Given the description of an element on the screen output the (x, y) to click on. 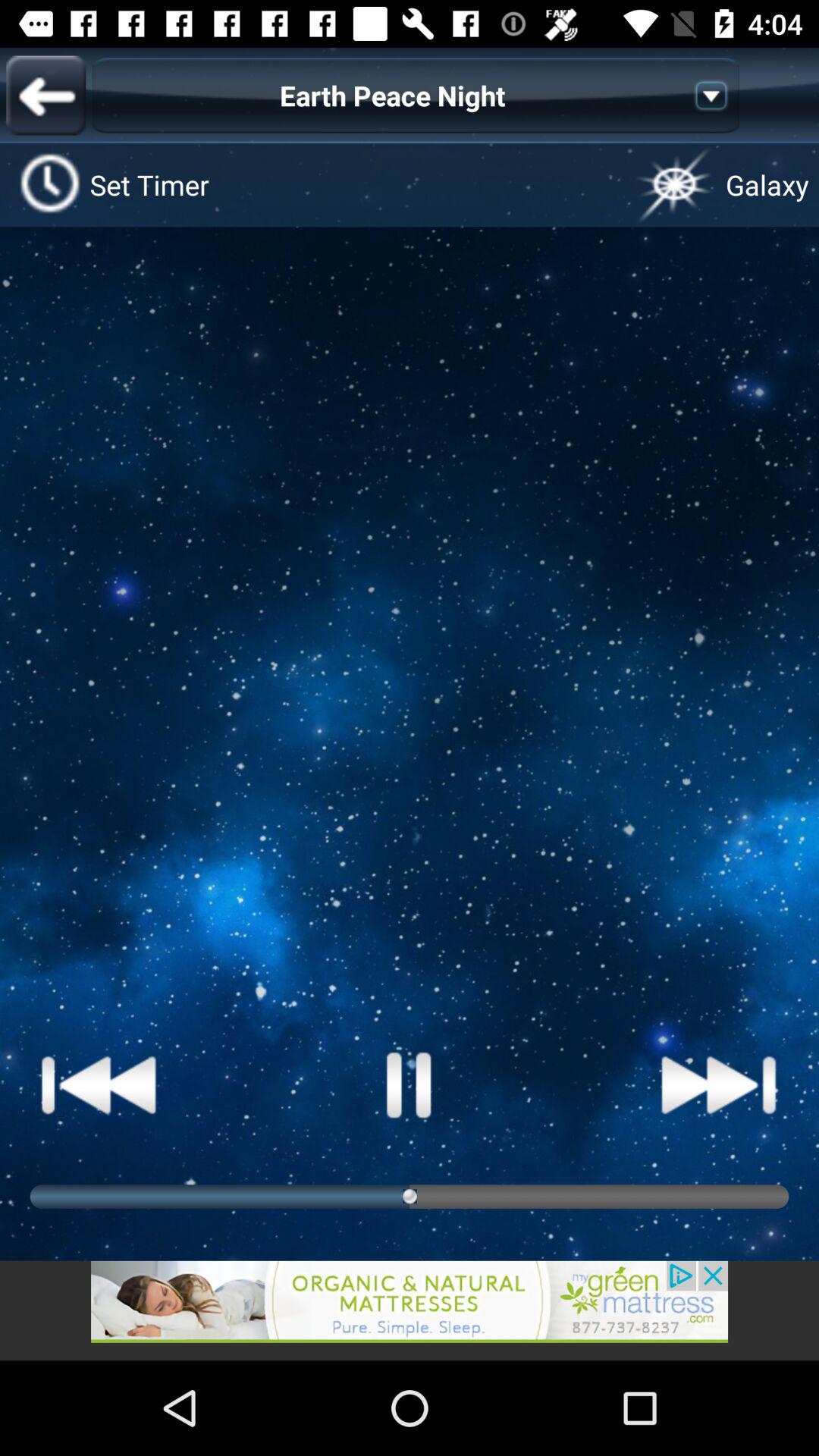
next button (719, 1084)
